Given the description of an element on the screen output the (x, y) to click on. 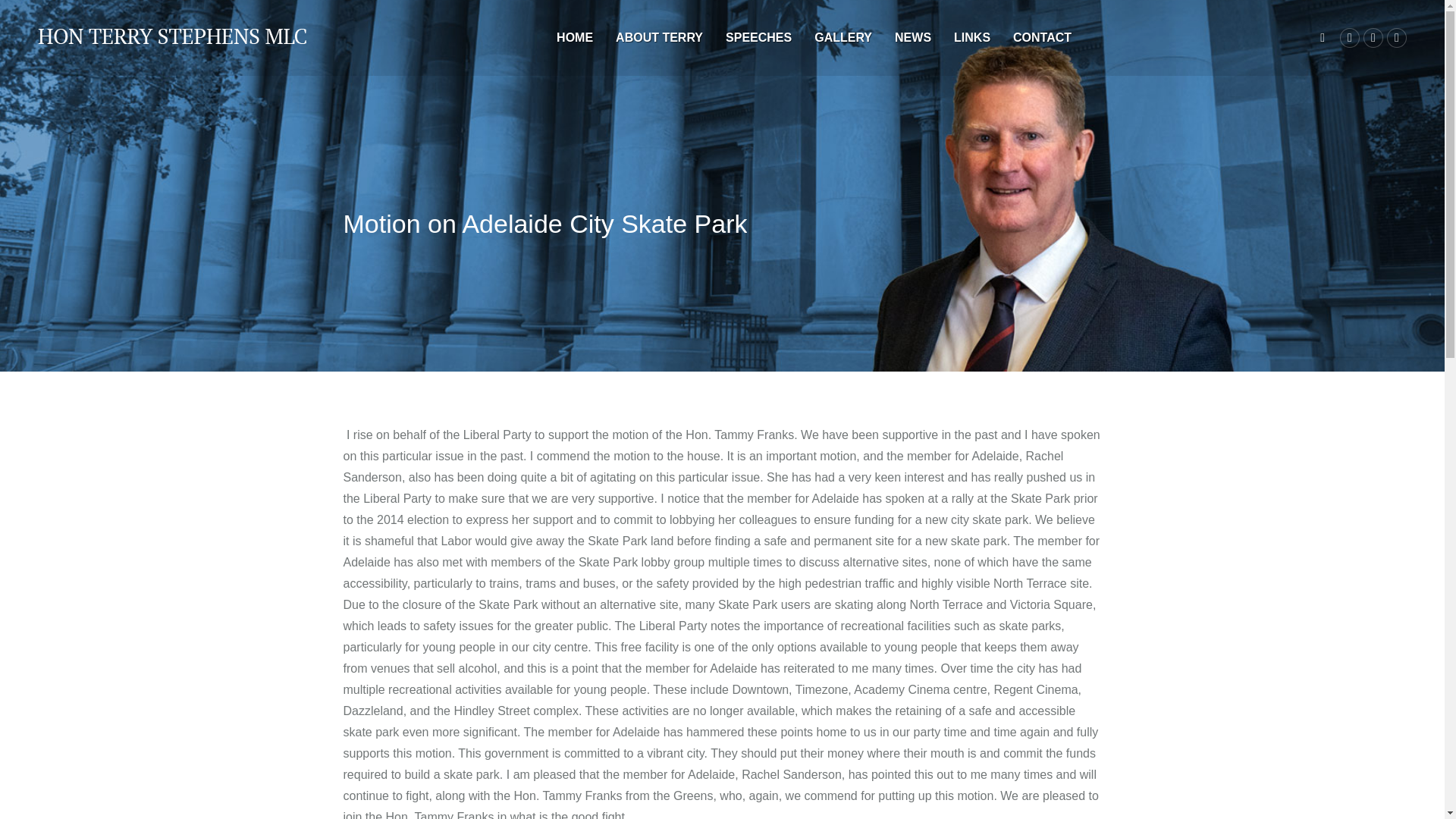
Instagram page opens in new window (1372, 37)
CONTACT (1042, 37)
X page opens in new window (1396, 37)
Go! (29, 14)
Facebook page opens in new window (1349, 37)
SPEECHES (758, 37)
ABOUT TERRY (659, 37)
GALLERY (842, 37)
X page opens in new window (1396, 37)
Instagram page opens in new window (1372, 37)
